Given the description of an element on the screen output the (x, y) to click on. 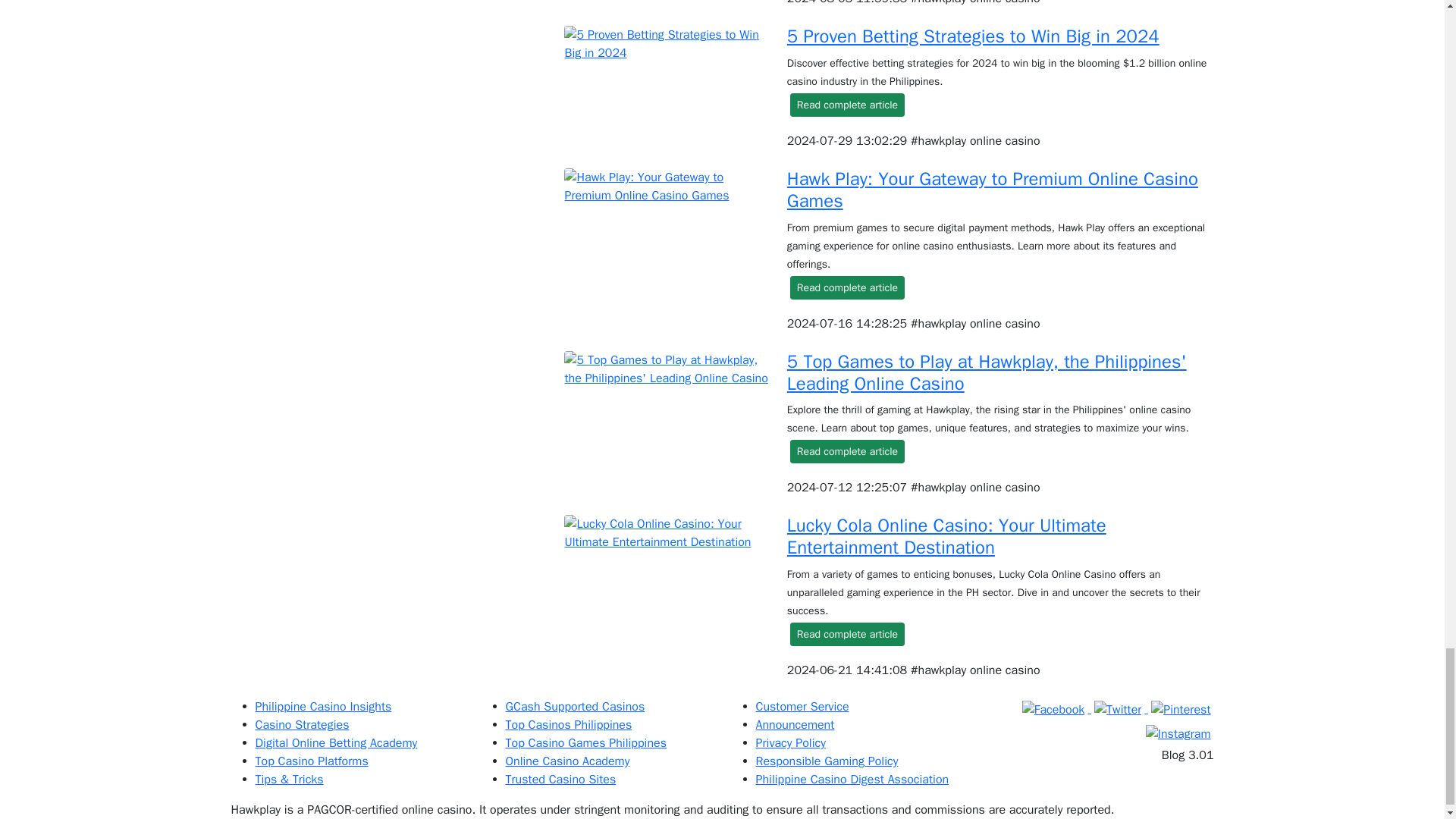
Hawk Play: Your Gateway to Premium Online Casino Games (992, 189)
Read complete article (847, 105)
Read complete article (847, 287)
5 Proven Betting Strategies to Win Big in 2024 (972, 36)
